Given the description of an element on the screen output the (x, y) to click on. 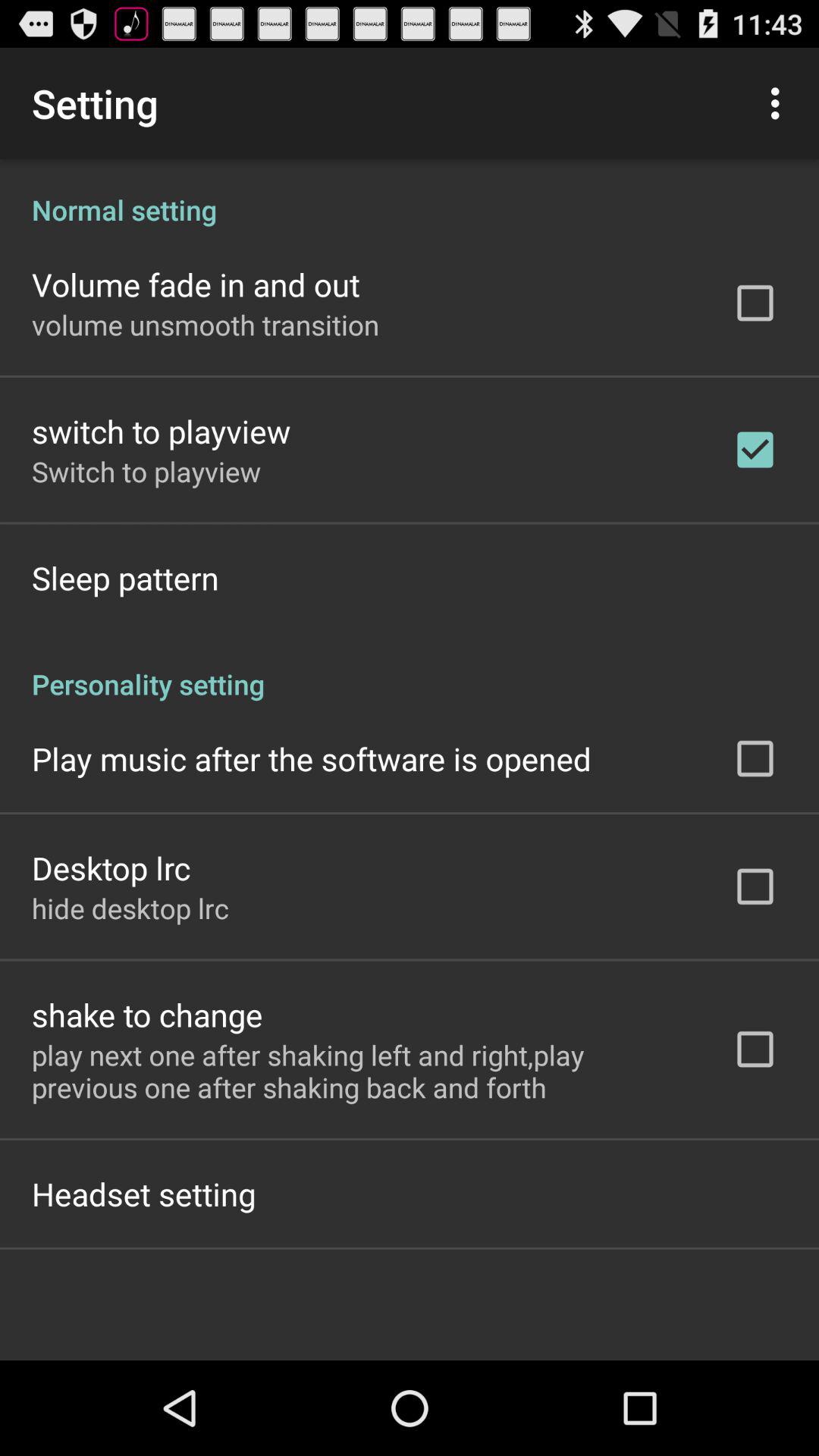
click the icon above headset setting app (361, 1071)
